Given the description of an element on the screen output the (x, y) to click on. 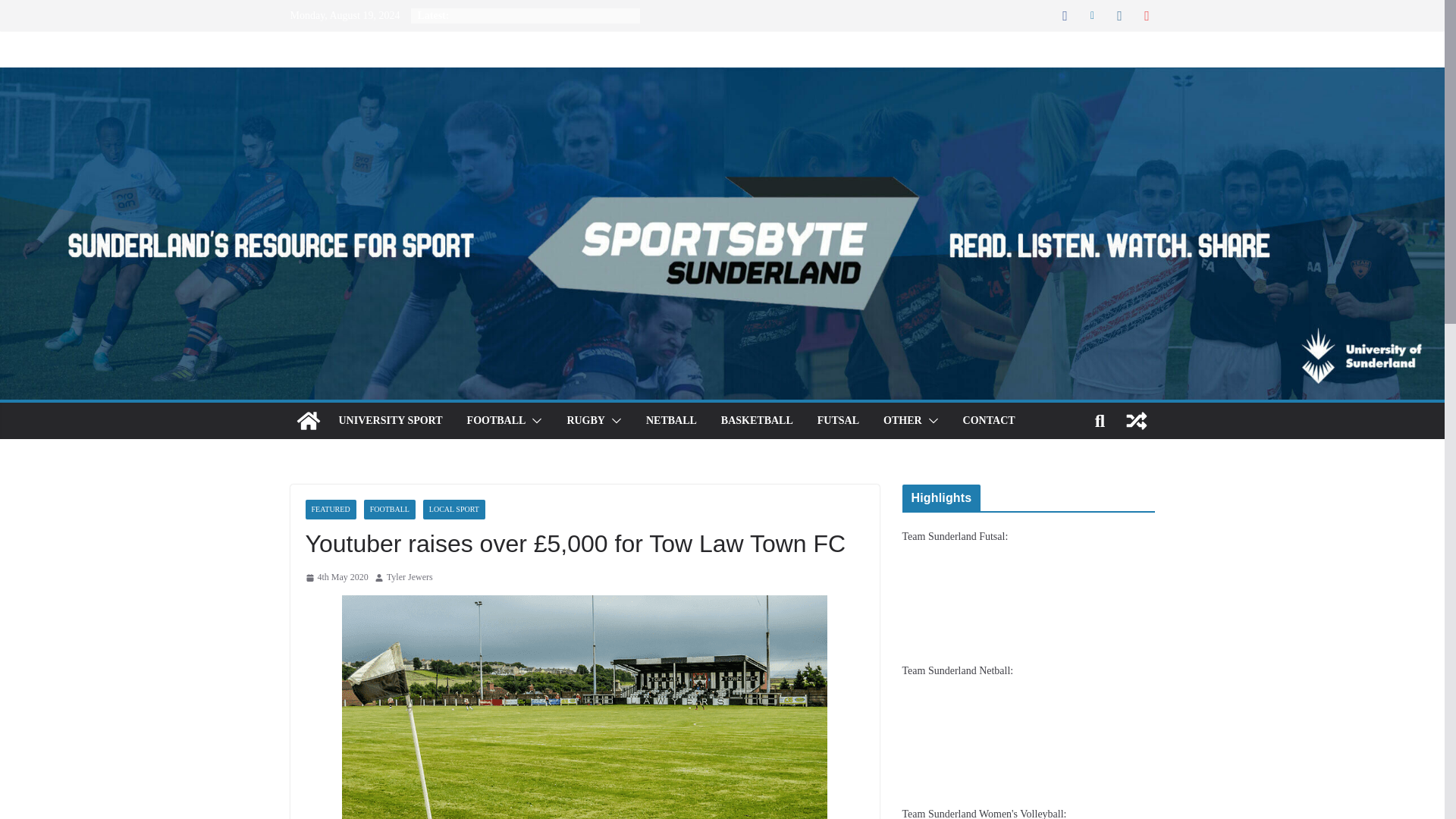
View a random post (1136, 420)
FUTSAL (837, 420)
SportsByte (307, 420)
FOOTBALL (496, 420)
UNIVERSITY SPORT (389, 420)
NETBALL (671, 420)
RUGBY (585, 420)
10:02 am (336, 577)
OTHER (902, 420)
BASKETBALL (756, 420)
